Given the description of an element on the screen output the (x, y) to click on. 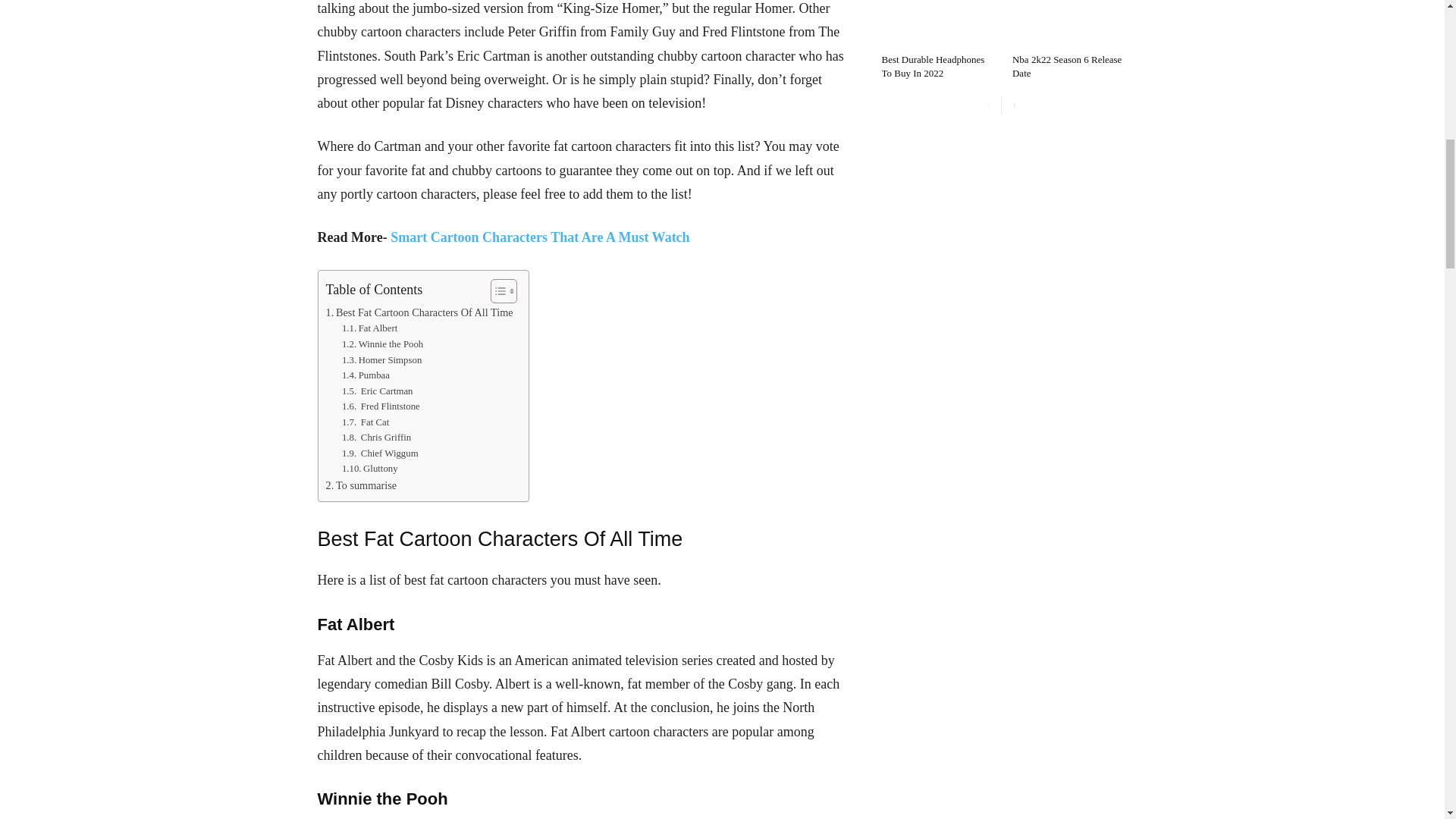
Winnie the Pooh (382, 344)
Pumbaa (366, 375)
Fat Albert (369, 328)
Homer Simpson (382, 360)
Best Fat Cartoon Characters Of All Time (419, 312)
